Given the description of an element on the screen output the (x, y) to click on. 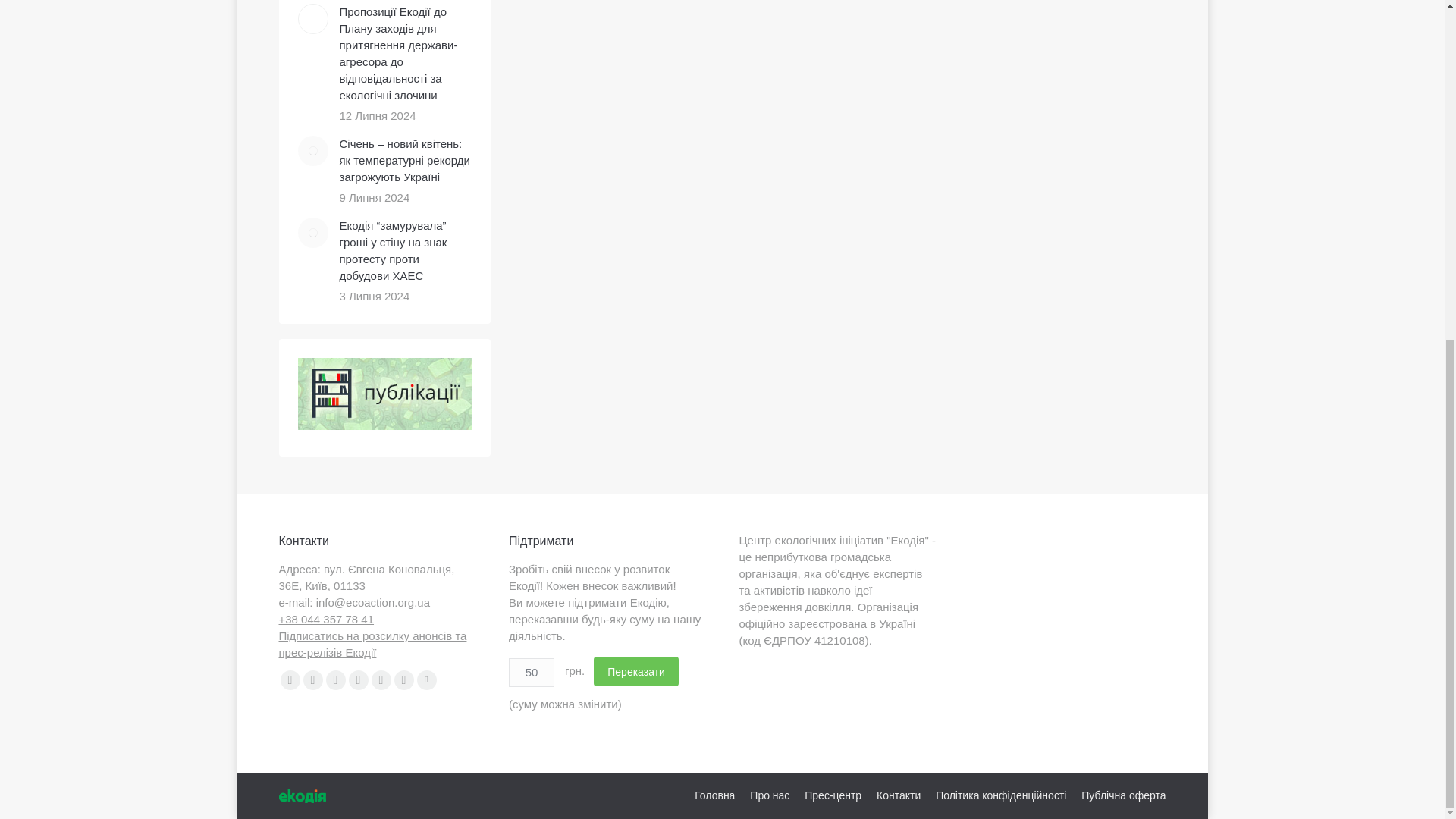
Flickr page opens in new window (358, 680)
YouTube page opens in new window (336, 680)
TikTok page opens in new window (426, 680)
Facebook page opens in new window (290, 680)
50 (531, 672)
Linkedin page opens in new window (381, 680)
X page opens in new window (312, 680)
Instagram page opens in new window (403, 680)
